Given the description of an element on the screen output the (x, y) to click on. 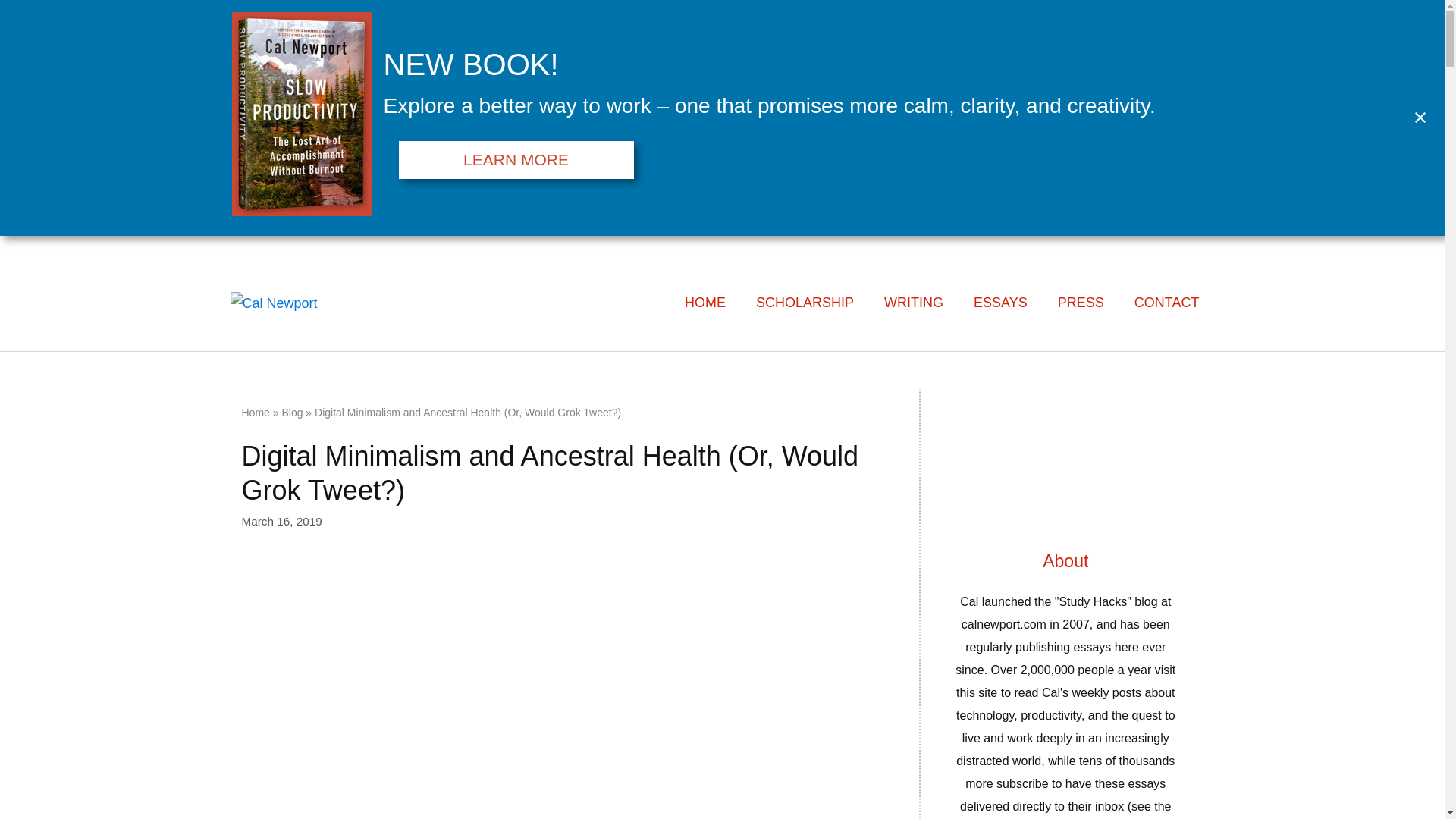
Blog (291, 412)
SCHOLARSHIP (805, 302)
CONTACT (1166, 302)
LEARN MORE (515, 159)
HOME (705, 302)
WRITING (913, 302)
PRESS (1080, 302)
Home (255, 412)
ESSAYS (1000, 302)
